Given the description of an element on the screen output the (x, y) to click on. 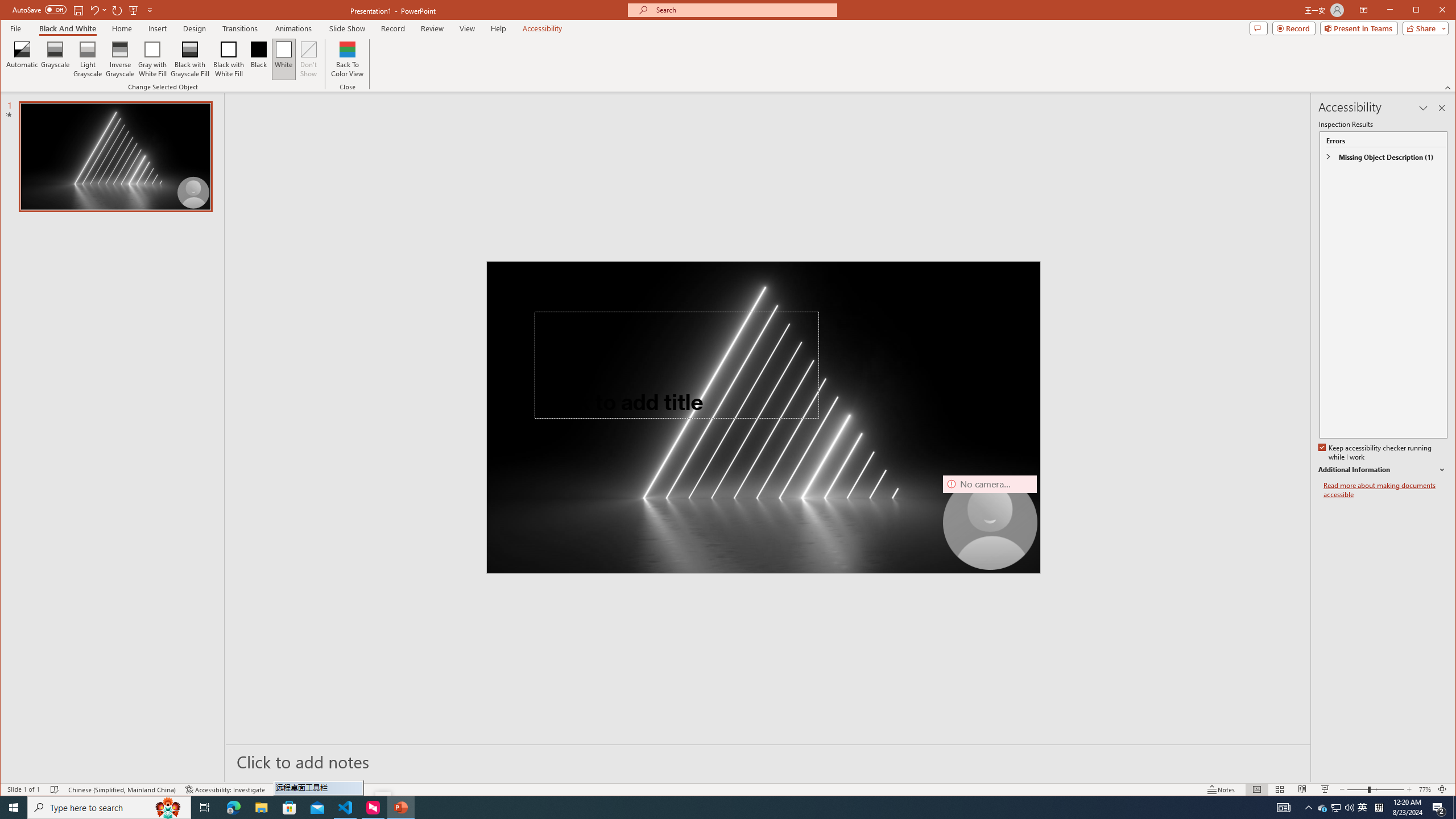
Black And White (1322, 807)
Automatic (67, 28)
